Given the description of an element on the screen output the (x, y) to click on. 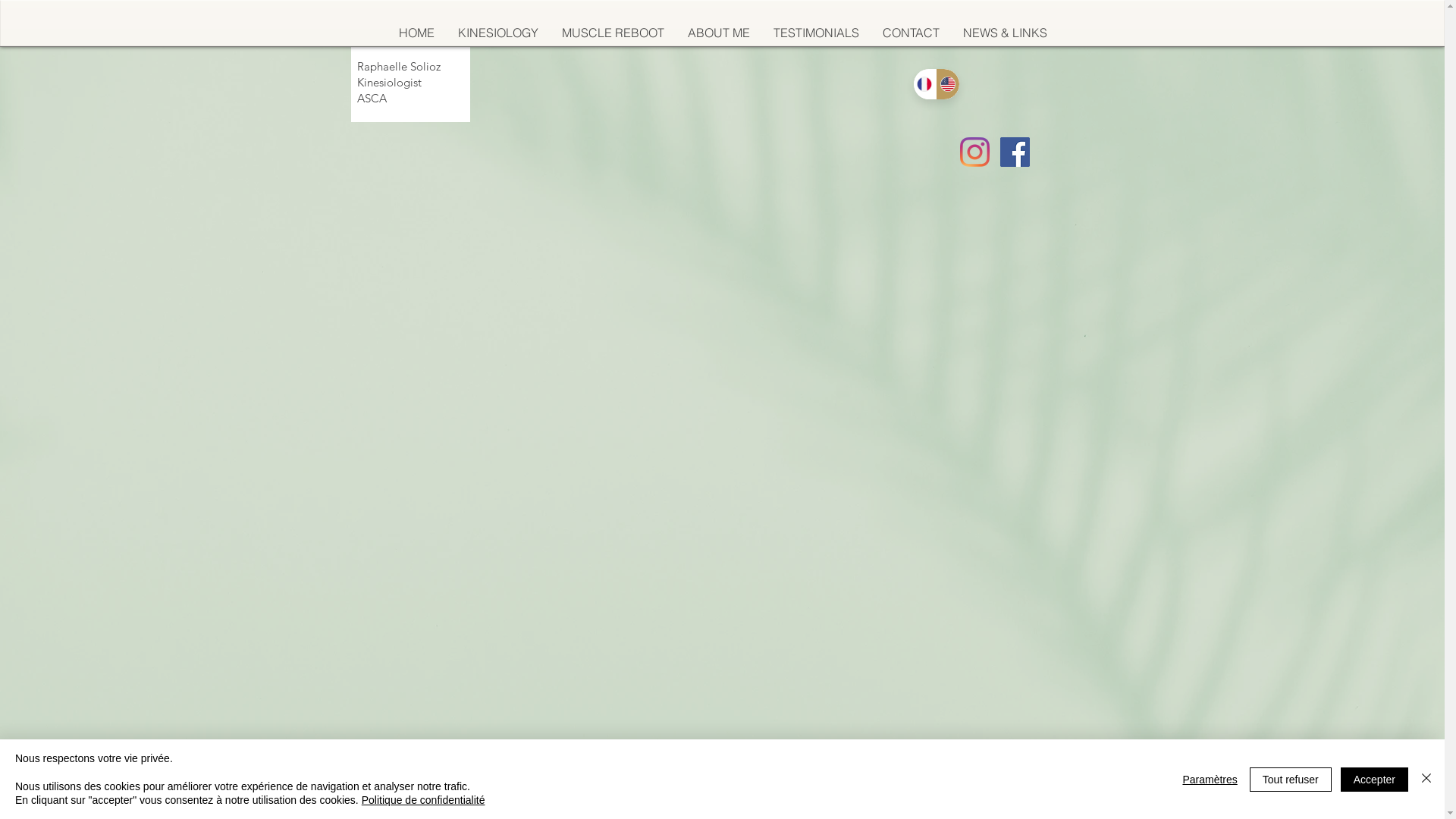
ABOUT ME Element type: text (717, 32)
KINESIOLOGY Element type: text (497, 32)
CONTACT Element type: text (910, 32)
TESTIMONIALS Element type: text (815, 32)
Accepter Element type: text (1374, 779)
HOME Element type: text (415, 32)
Kinesiologist Element type: text (397, 90)
NEWS & LINKS Element type: text (1004, 32)
Raphaelle Solioz Element type: text (397, 66)
MUSCLE REBOOT Element type: text (611, 32)
Tout refuser Element type: text (1290, 779)
